Given the description of an element on the screen output the (x, y) to click on. 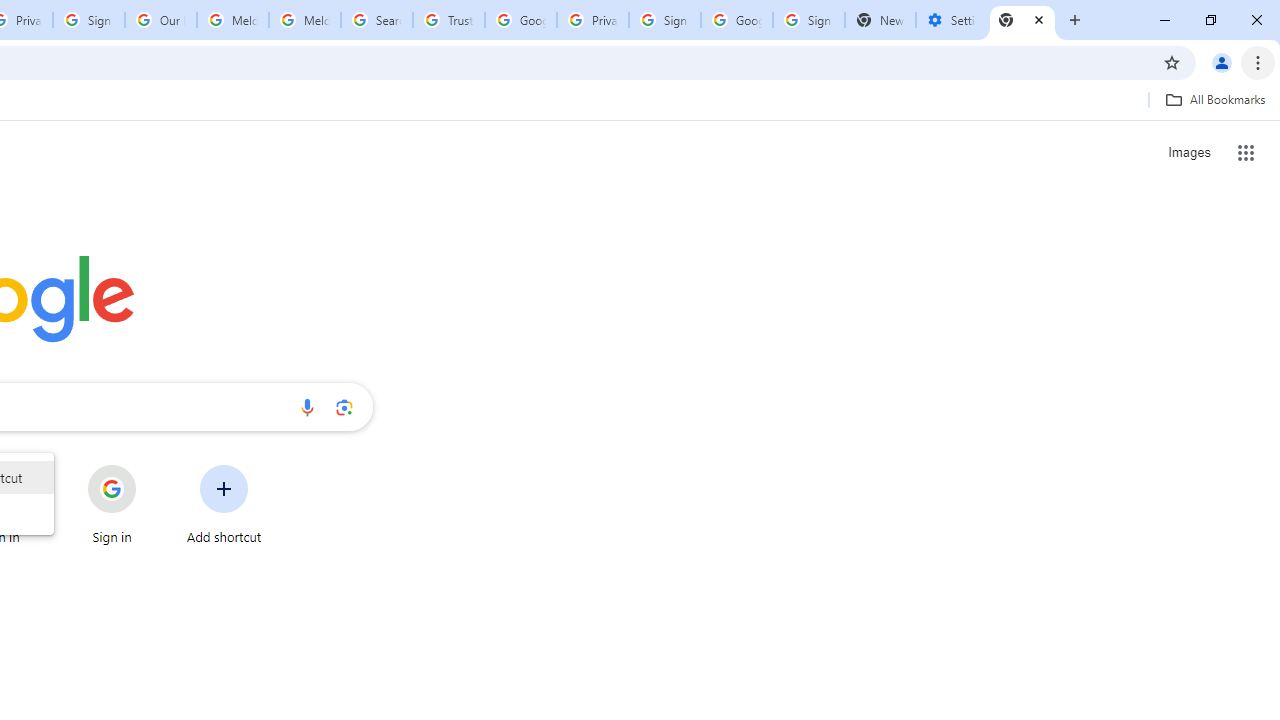
Sign in - Google Accounts (88, 20)
Sign in - Google Accounts (664, 20)
Settings - Addresses and more (951, 20)
Sign in - Google Accounts (808, 20)
Trusted Information and Content - Google Safety Center (449, 20)
Google Cybersecurity Innovations - Google Safety Center (737, 20)
Search our Doodle Library Collection - Google Doodles (376, 20)
